Given the description of an element on the screen output the (x, y) to click on. 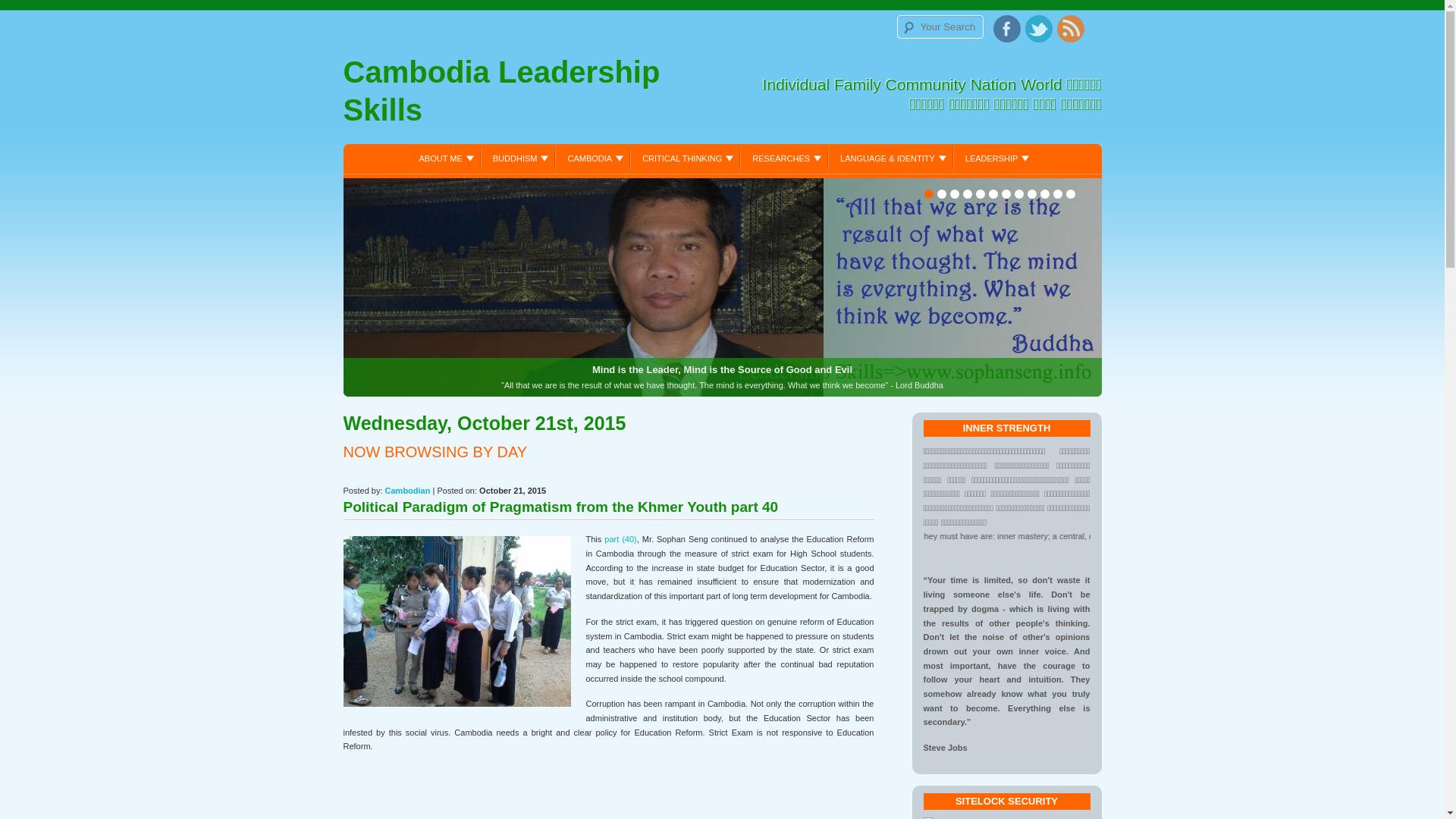
ABOUT ME (444, 158)
Cambodia Leadership Skills (532, 94)
CAMBODIA (593, 158)
SiteLock (960, 818)
Posts by Cambodian (407, 490)
Search (29, 13)
BUDDHISM (518, 158)
CRITICAL THINKING (685, 158)
